Given the description of an element on the screen output the (x, y) to click on. 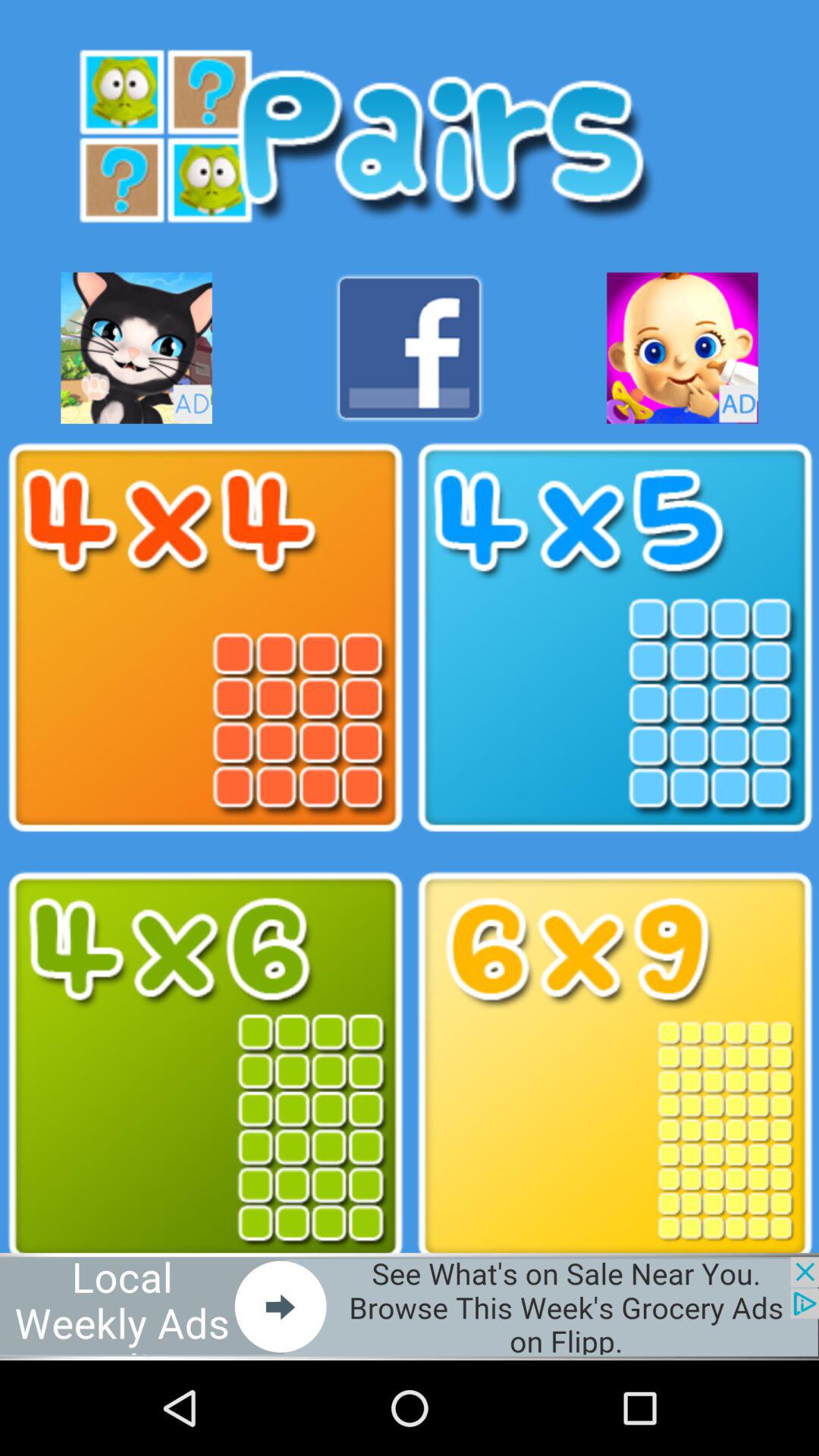
choose pair (204, 637)
